Given the description of an element on the screen output the (x, y) to click on. 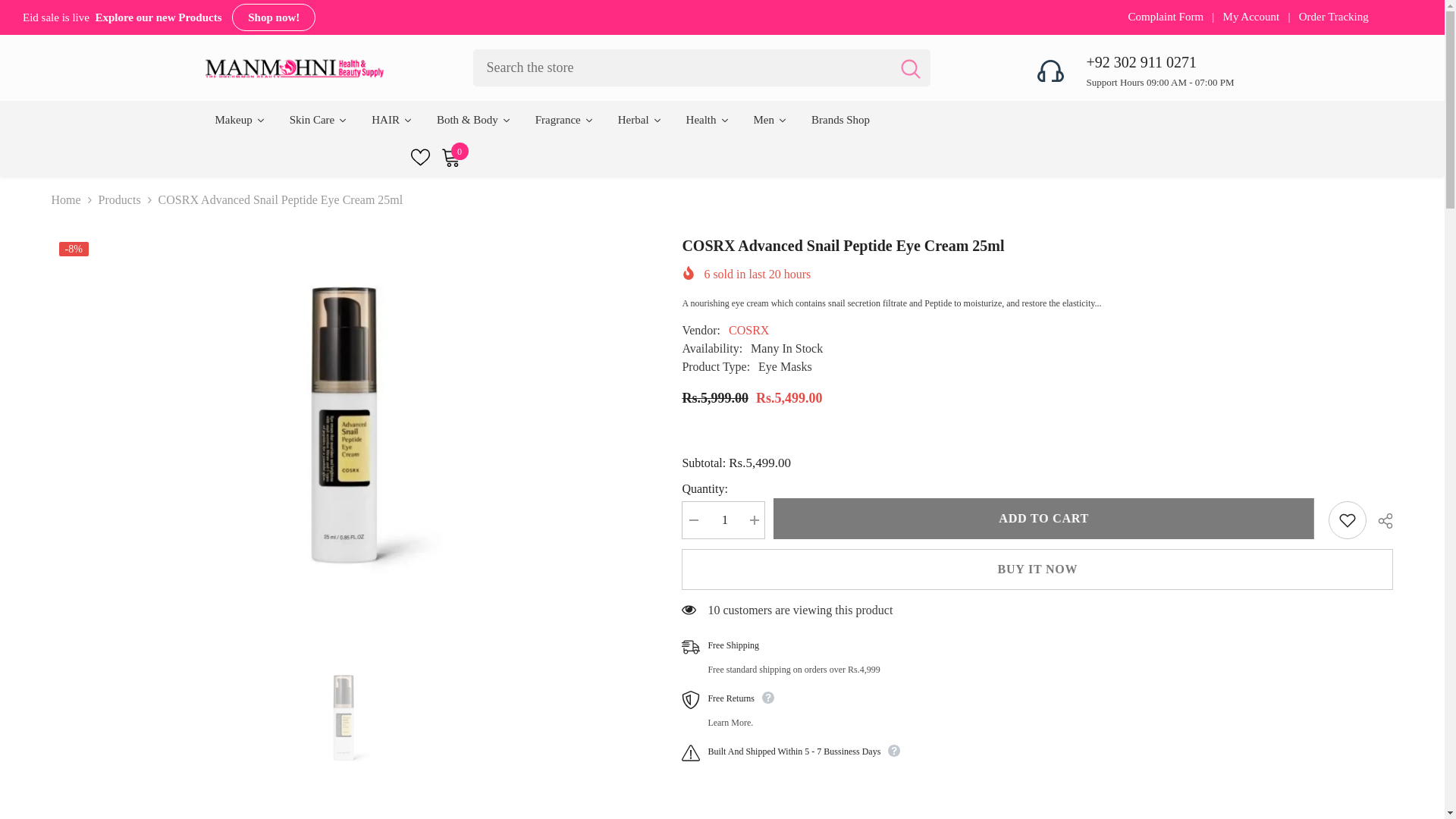
BUY IT NOW (1037, 568)
COSRX (748, 329)
Men (770, 119)
Herbal (639, 119)
Men (770, 119)
Health (454, 157)
ADD TO CART (707, 119)
Fragrance (1046, 517)
Skin Care (563, 119)
Brands Shop (318, 119)
My Account (840, 119)
HAIR (1252, 16)
1 (392, 119)
COSRX (723, 519)
